Given the description of an element on the screen output the (x, y) to click on. 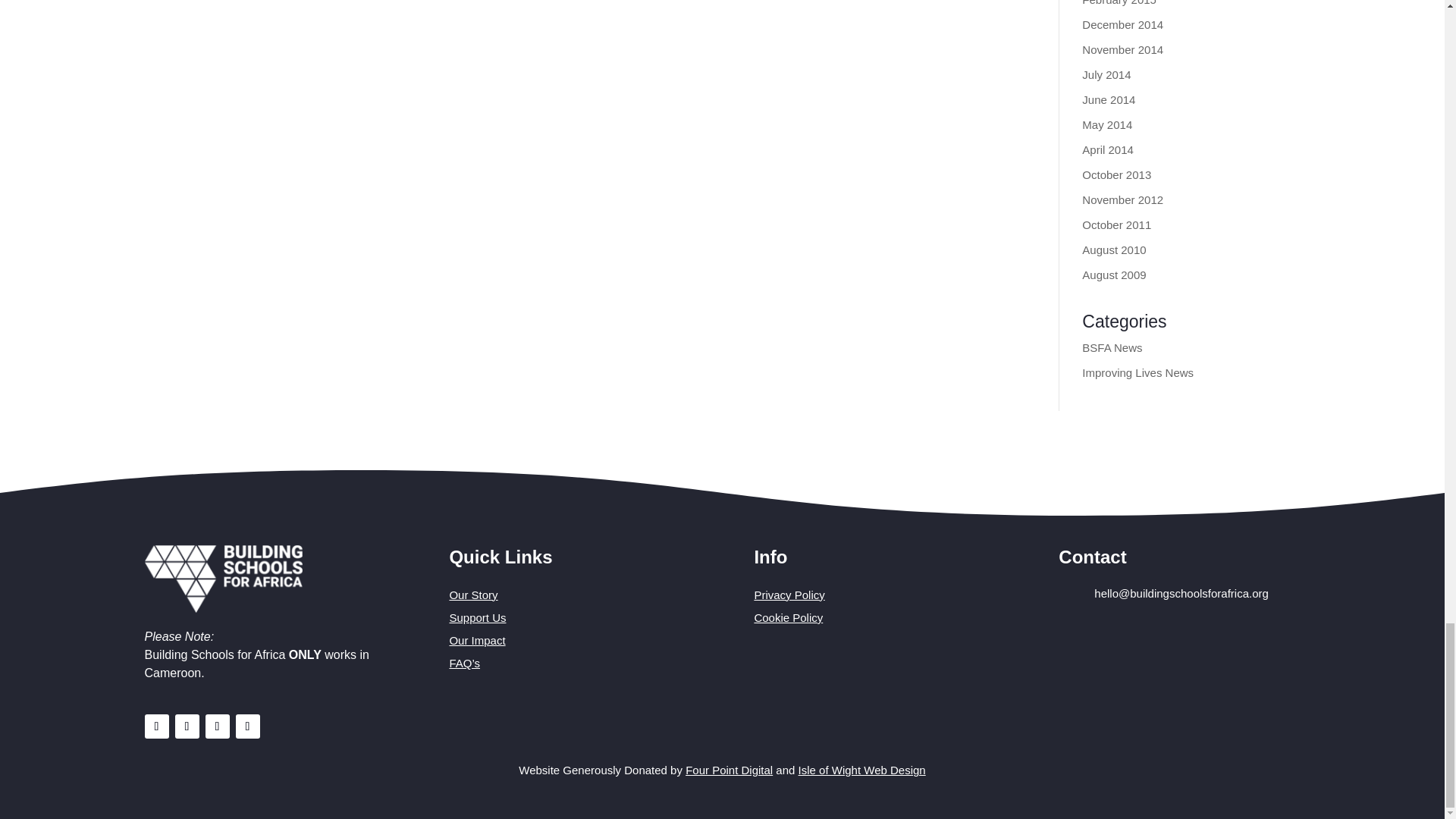
Follow on Facebook (156, 726)
logo-3 (222, 579)
Follow on X (246, 726)
Follow on LinkedIn (216, 726)
Follow on Instagram (186, 726)
